Given the description of an element on the screen output the (x, y) to click on. 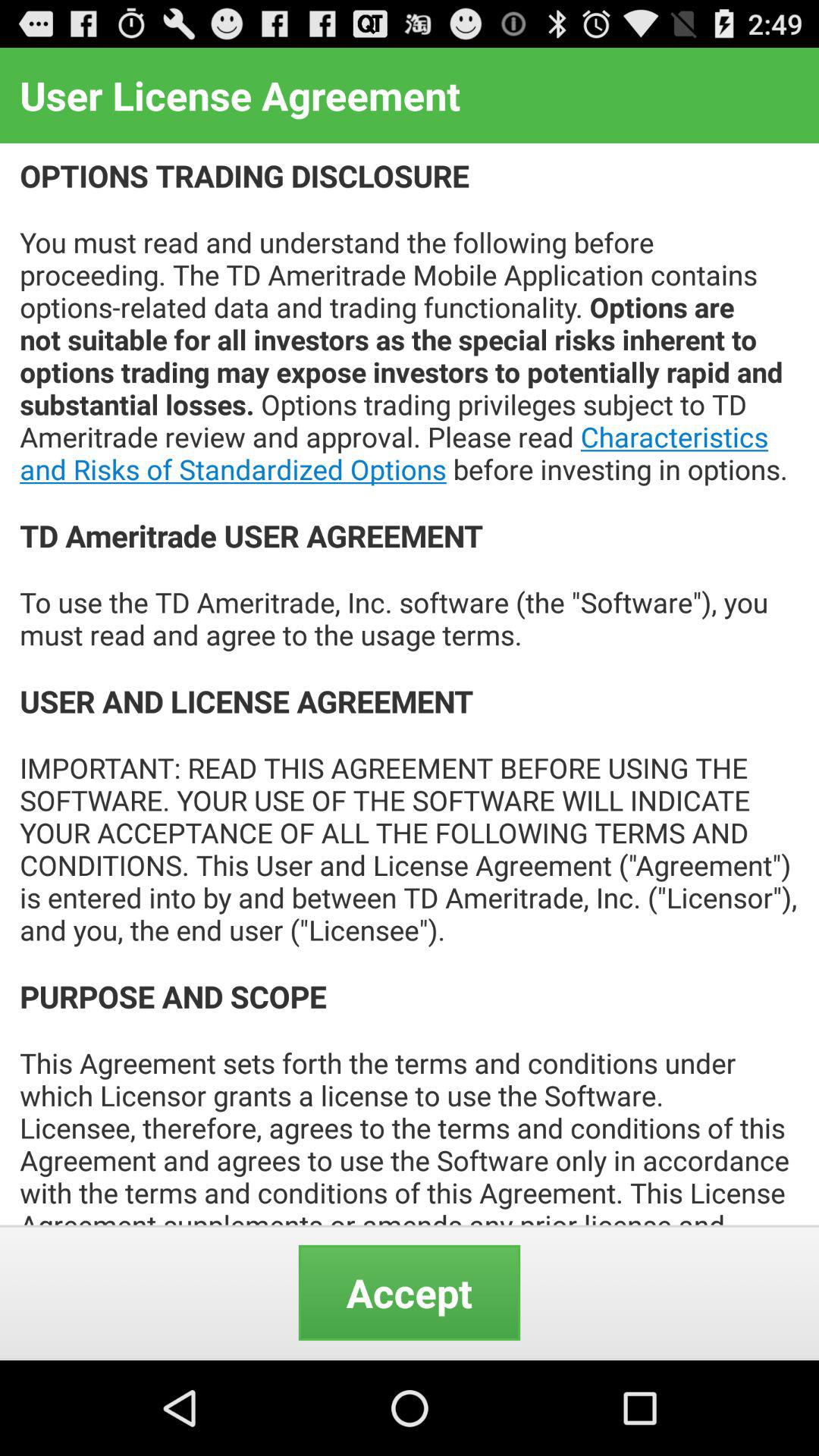
click the item below options trading disclosure icon (409, 1292)
